Given the description of an element on the screen output the (x, y) to click on. 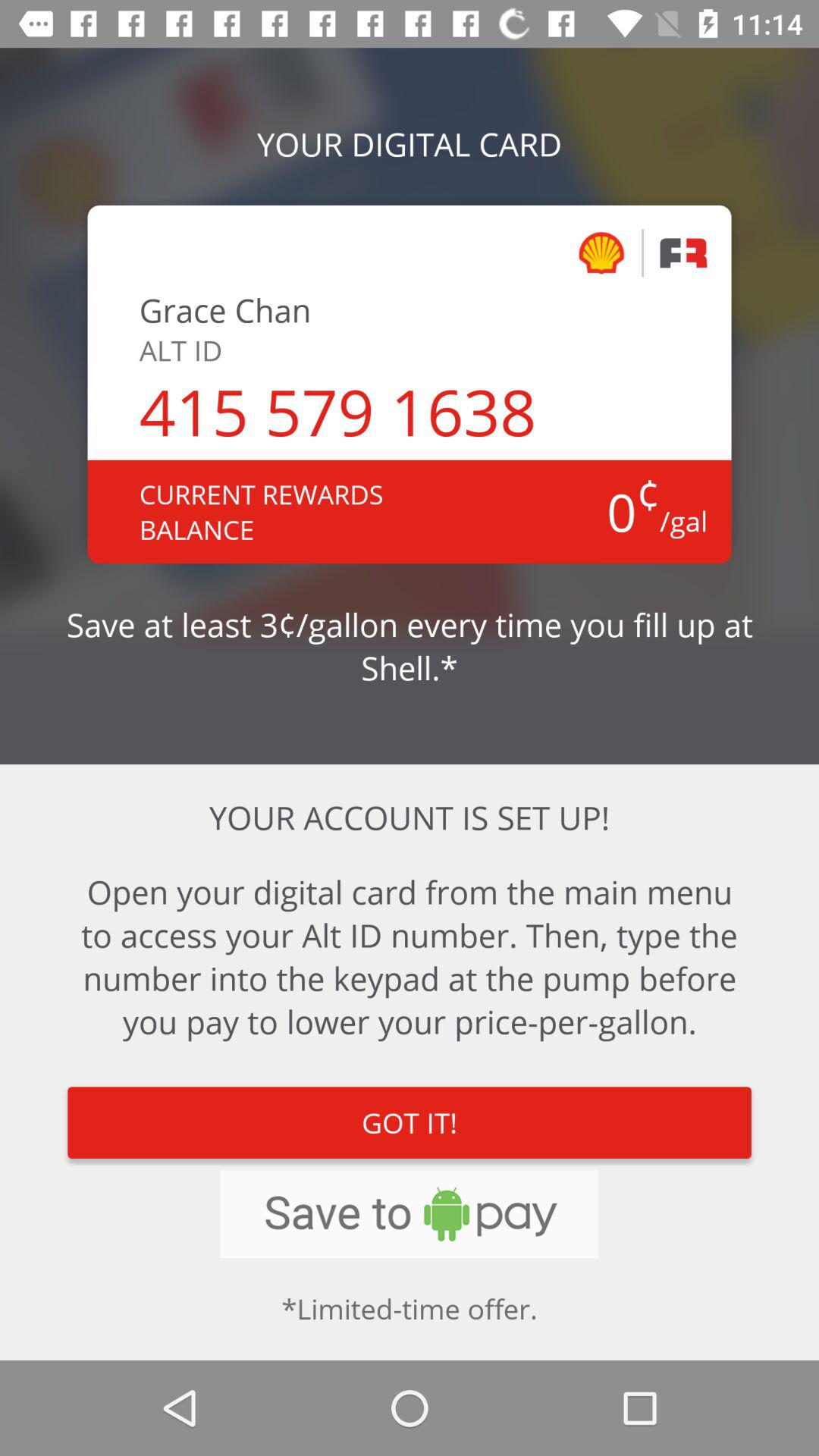
save to your android-pay account (409, 1214)
